Given the description of an element on the screen output the (x, y) to click on. 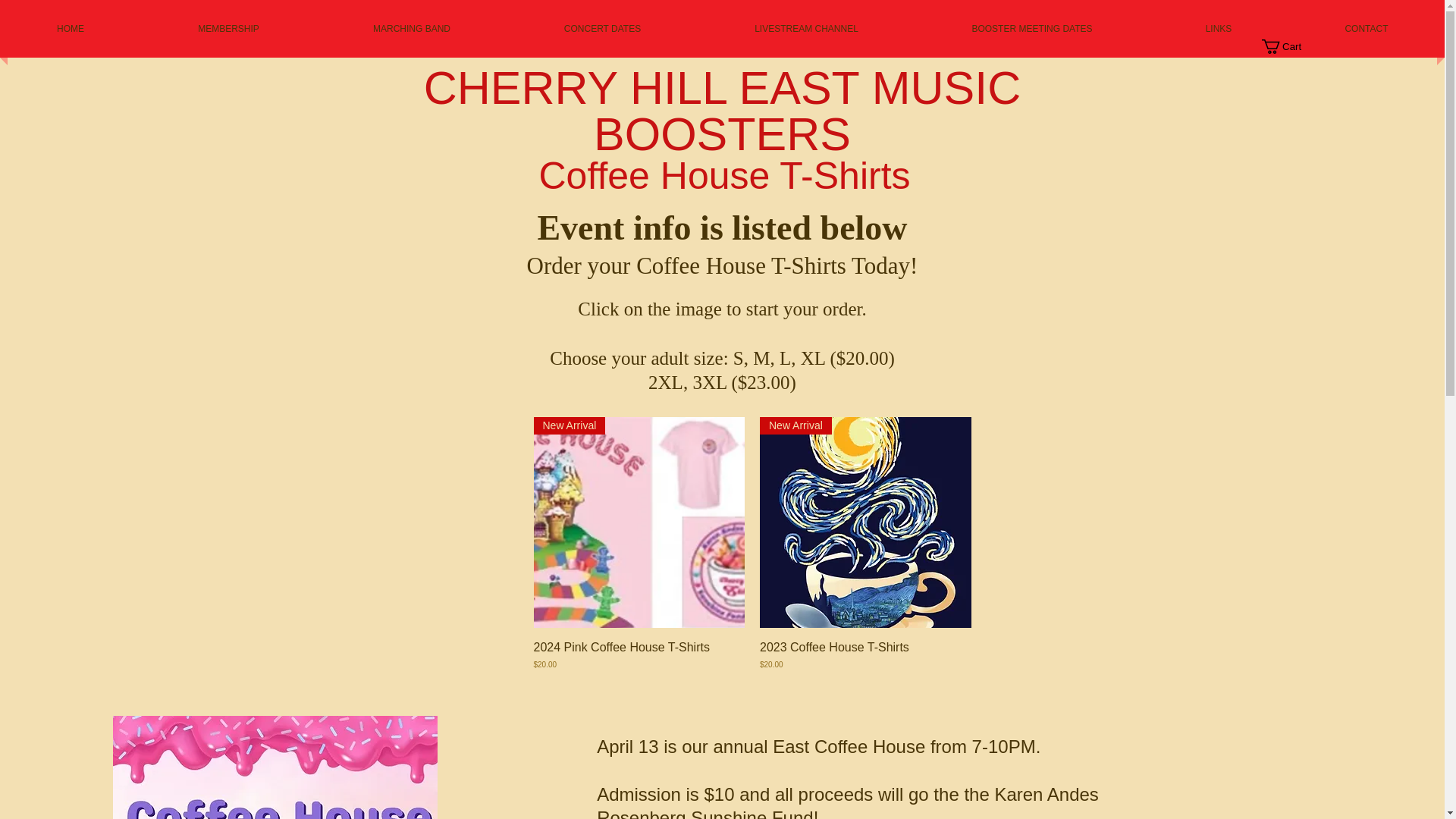
MEMBERSHIP (228, 28)
BOOSTER MEETING DATES (1031, 28)
Cart (1289, 46)
CONCERT DATES (601, 28)
LIVESTREAM CHANNEL (806, 28)
HOME (70, 28)
East Coffee House 2024 invite-1.jpeg (275, 767)
